Given the description of an element on the screen output the (x, y) to click on. 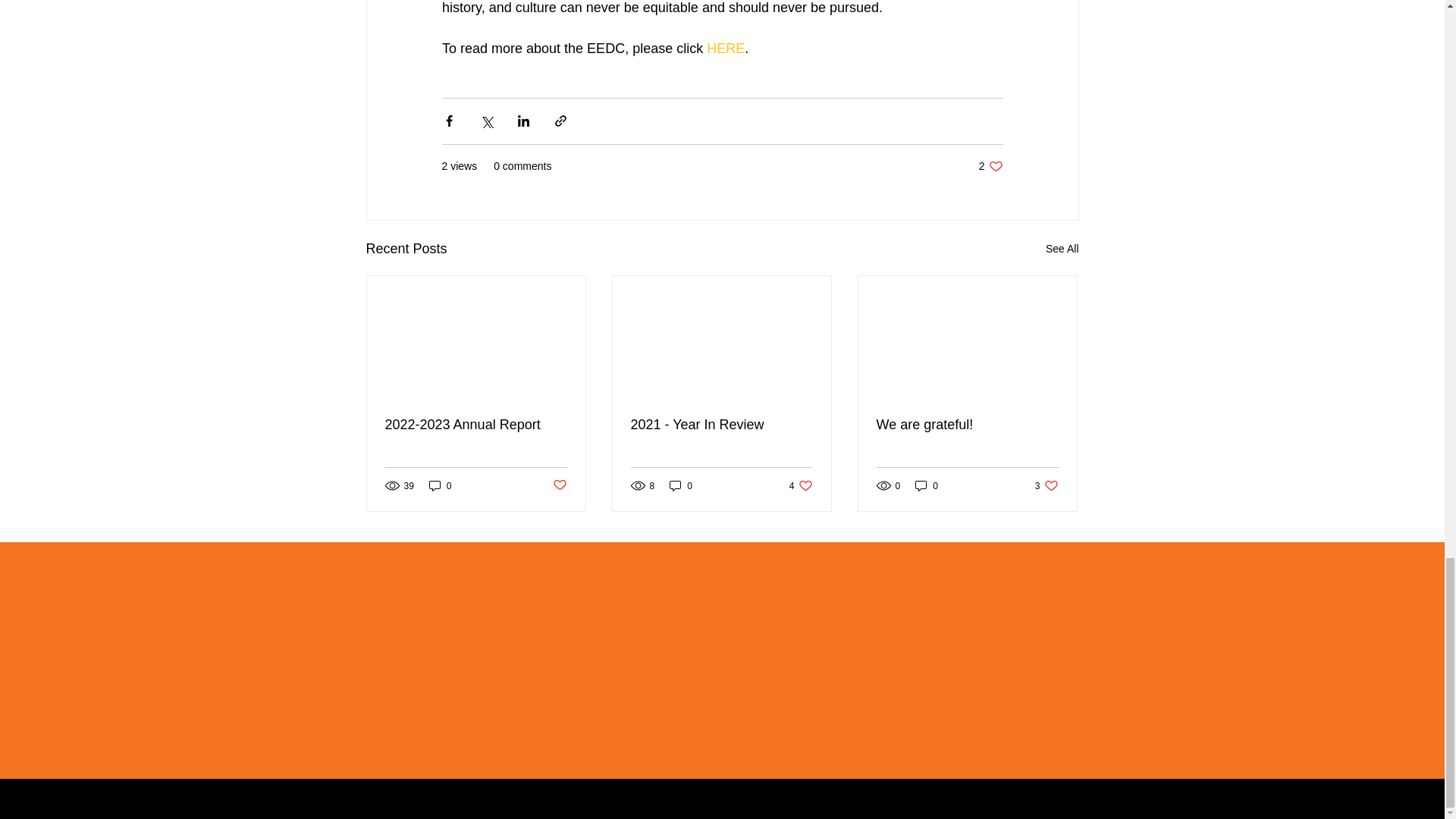
2022-2023 Annual Report (476, 424)
2021 - Year In Review (721, 424)
0 (681, 485)
See All (1046, 485)
HERE (1061, 249)
We are grateful! (725, 48)
0 (990, 165)
0 (967, 424)
